Given the description of an element on the screen output the (x, y) to click on. 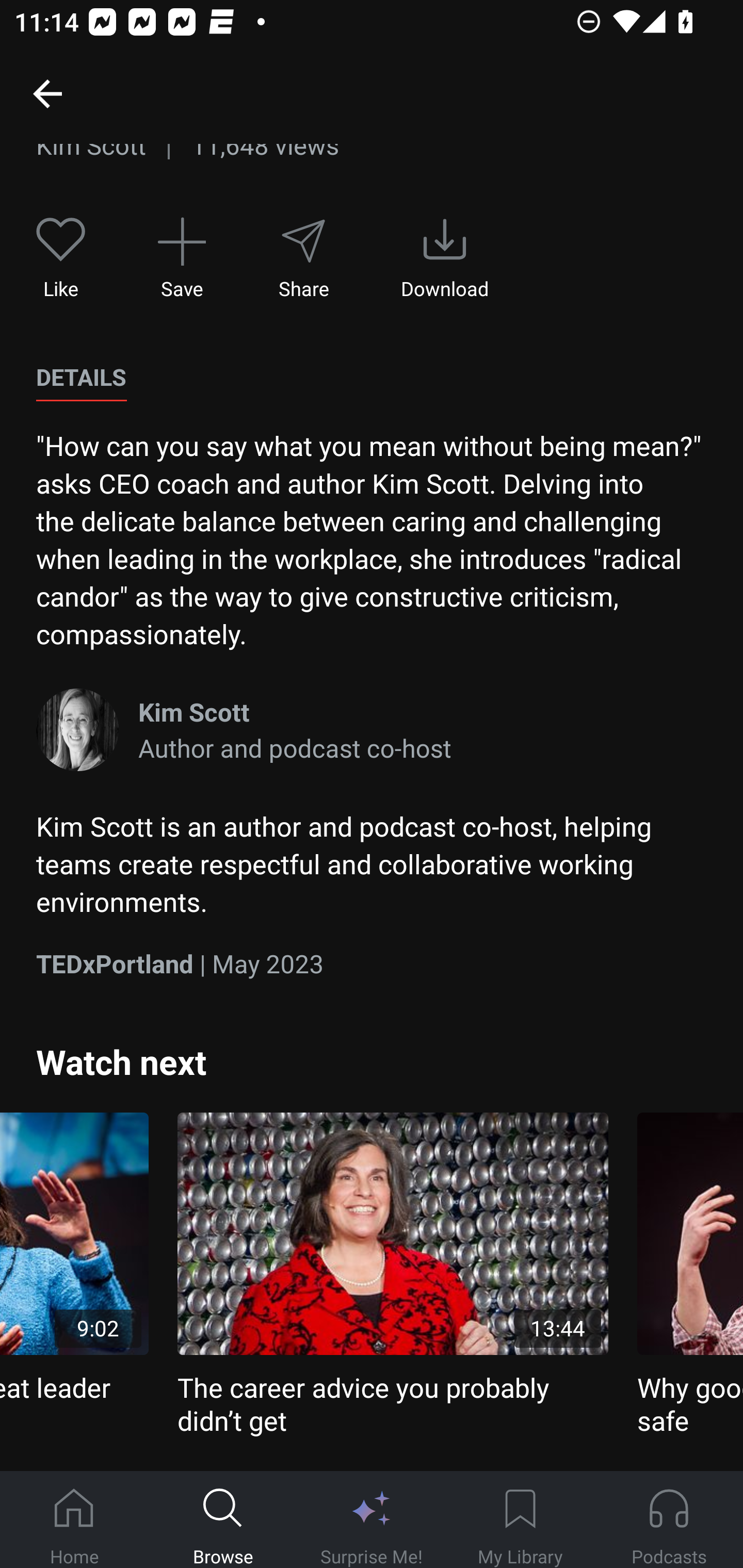
Search, back (47, 92)
Like (60, 258)
Save (181, 258)
Share (302, 258)
Download (444, 258)
DETAILS (80, 377)
13:44 The career advice you probably didn’t get (392, 1275)
Home (74, 1520)
Browse (222, 1520)
Surprise Me! (371, 1520)
My Library (519, 1520)
Podcasts (668, 1520)
